Given the description of an element on the screen output the (x, y) to click on. 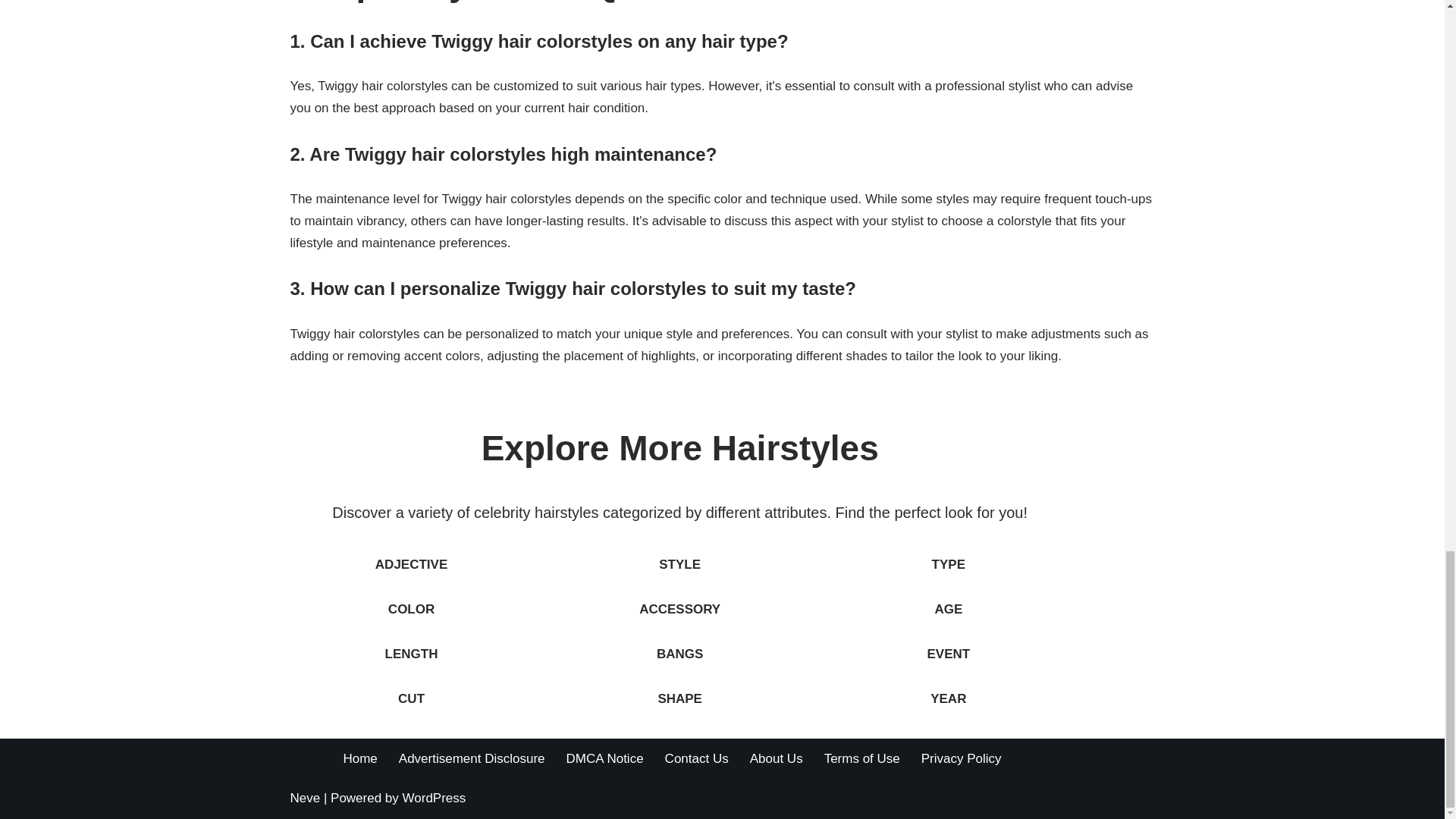
BANGS (679, 653)
LENGTH (411, 653)
CUT (411, 698)
YEAR (948, 698)
STYLE (679, 564)
TYPE (948, 564)
ADJECTIVE (410, 564)
ACCESSORY (679, 608)
Home (359, 758)
AGE (948, 608)
SHAPE (679, 698)
COLOR (410, 608)
EVENT (947, 653)
